Given the description of an element on the screen output the (x, y) to click on. 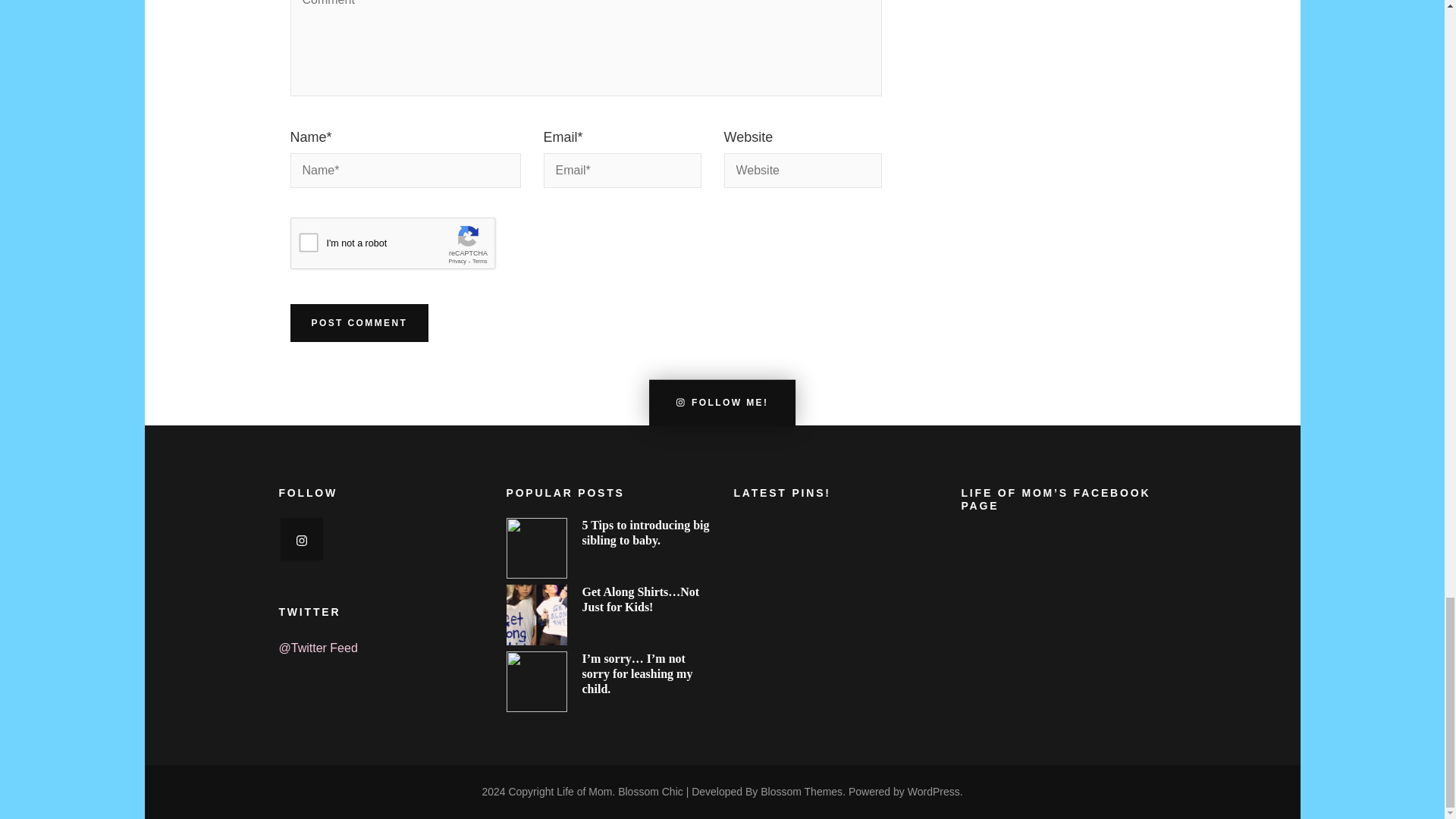
Post Comment (358, 322)
reCAPTCHA (404, 246)
Post Comment (358, 322)
